Given the description of an element on the screen output the (x, y) to click on. 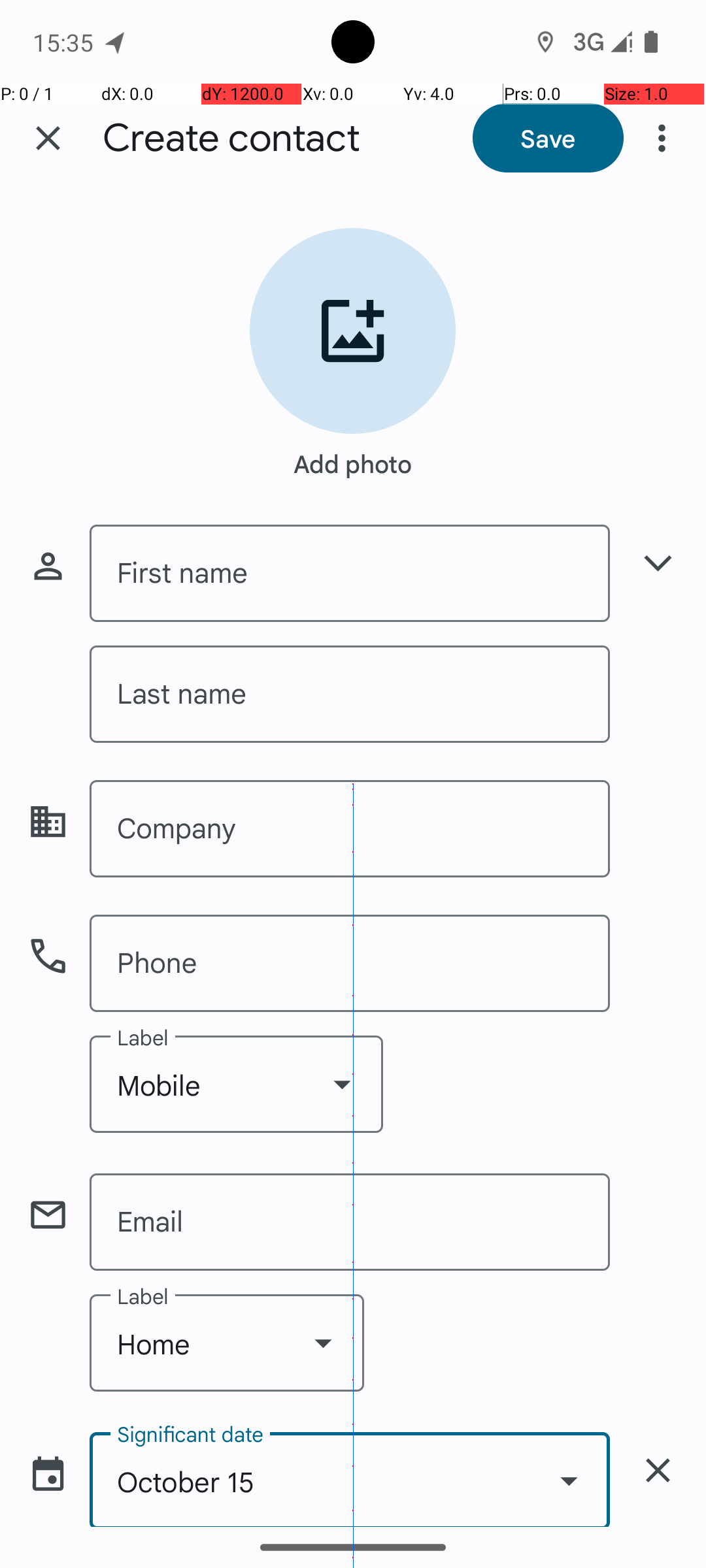
Save Element type: android.widget.Button (547, 137)
First name Element type: android.widget.EditText (349, 572)
Last name Element type: android.widget.EditText (349, 693)
Mobile Element type: android.widget.Spinner (236, 1083)
Show dropdown menu Element type: android.widget.ImageButton (341, 1083)
Email Element type: android.widget.EditText (349, 1221)
October 15 Element type: android.widget.EditText (349, 1479)
Show date picker Element type: android.widget.ImageButton (568, 1480)
Delete Birthday Special date Element type: android.widget.FrameLayout (657, 1470)
Add contact photo Element type: android.widget.ImageView (352, 330)
Add photo Element type: android.widget.TextView (352, 456)
Show more name fields Element type: android.widget.ImageView (657, 562)
delete Element type: android.widget.ImageView (657, 1470)
15:35 Element type: android.widget.TextView (64, 41)
